Given the description of an element on the screen output the (x, y) to click on. 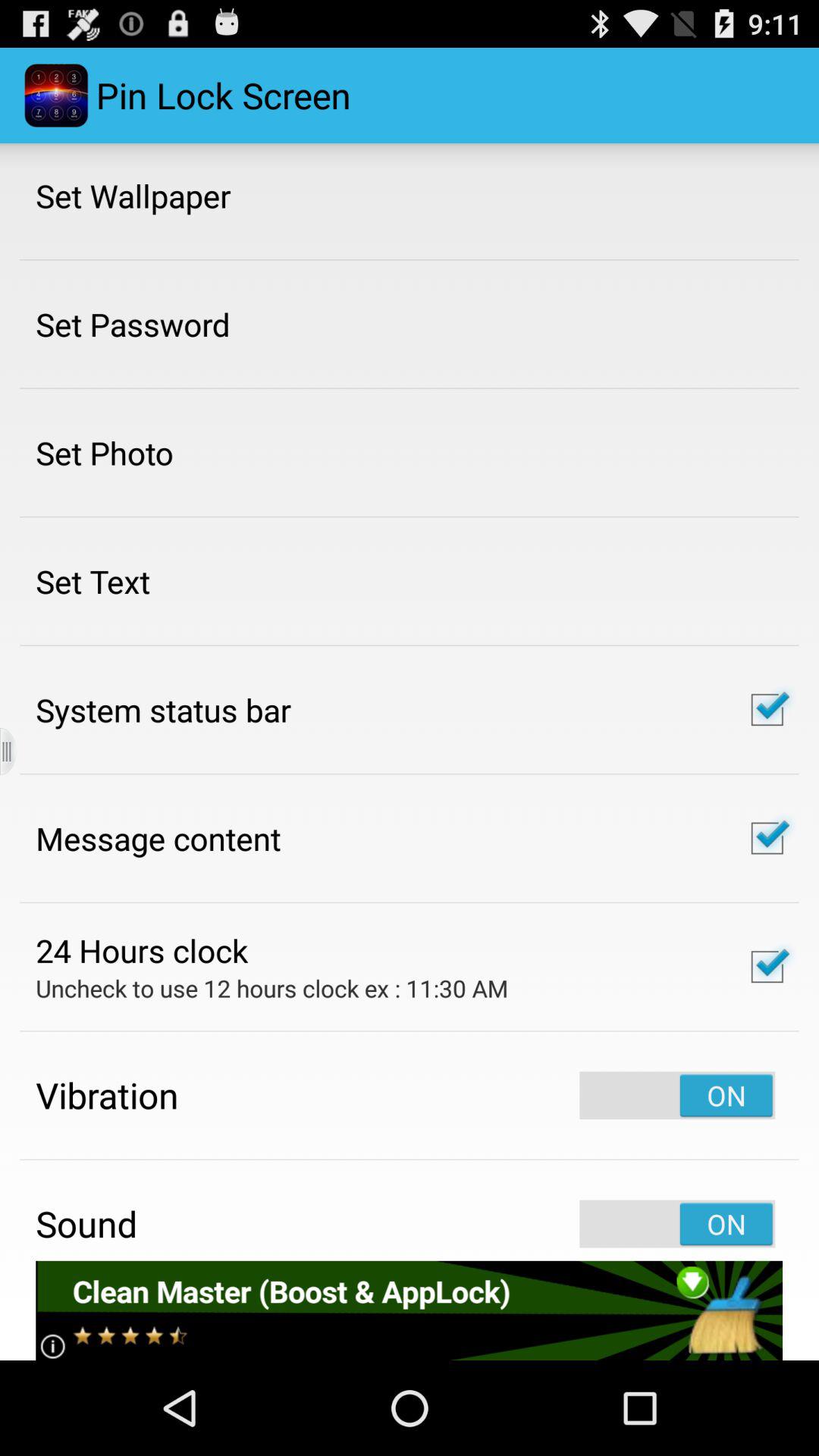
launch advertisement page (408, 1310)
